Given the description of an element on the screen output the (x, y) to click on. 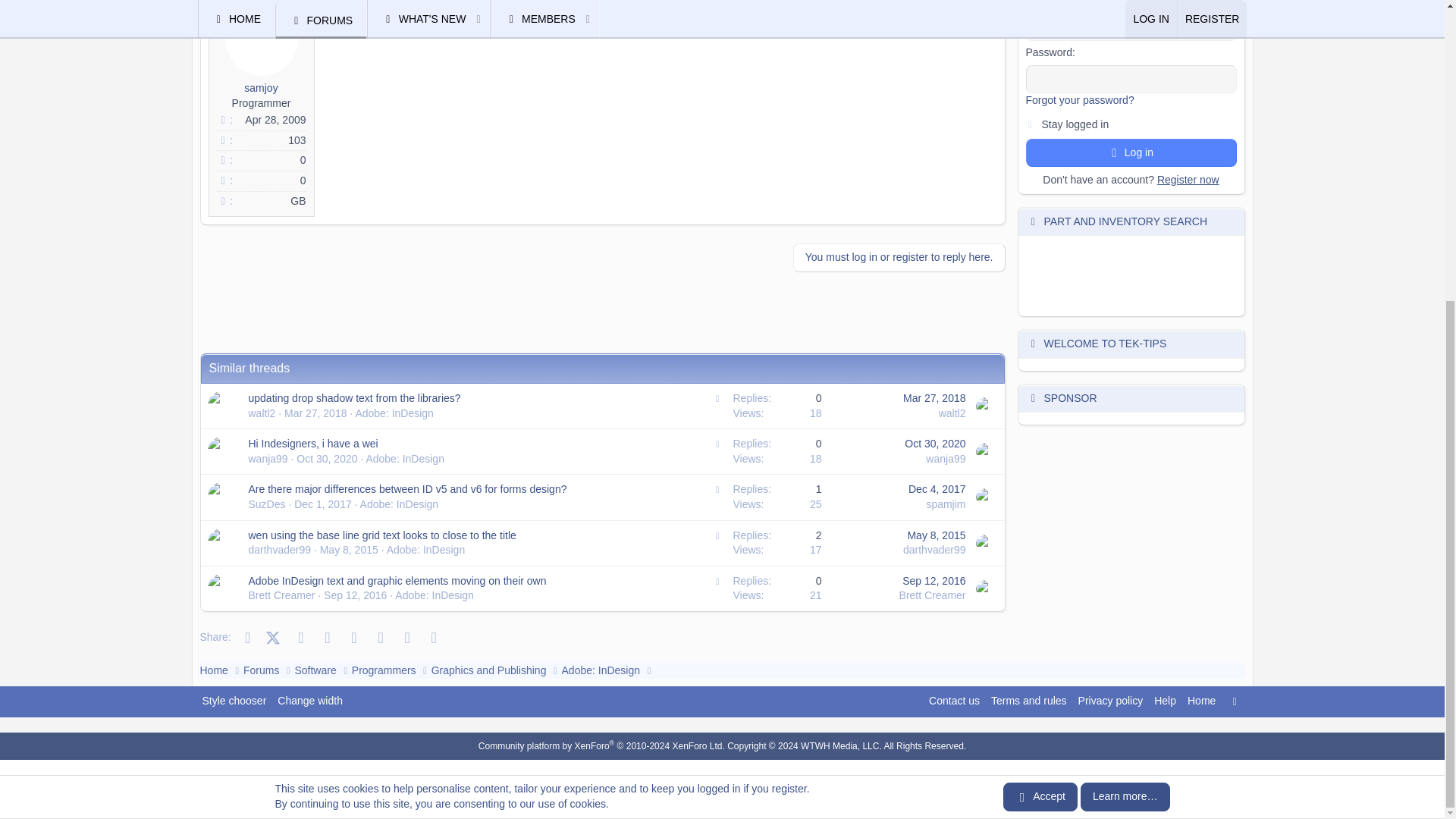
Oct 30, 2020 at 3:46 AM (326, 458)
First message reaction score: 0 (777, 497)
Dec 1, 2017 at 7:01 PM (323, 503)
3rd party ad content (476, 318)
First message reaction score: 0 (777, 406)
Oct 30, 2020 at 3:46 AM (934, 443)
Dec 4, 2017 at 10:15 AM (937, 489)
1 (1030, 121)
Mar 27, 2018 at 7:52 PM (315, 413)
Mar 27, 2018 at 7:52 PM (934, 398)
